Given the description of an element on the screen output the (x, y) to click on. 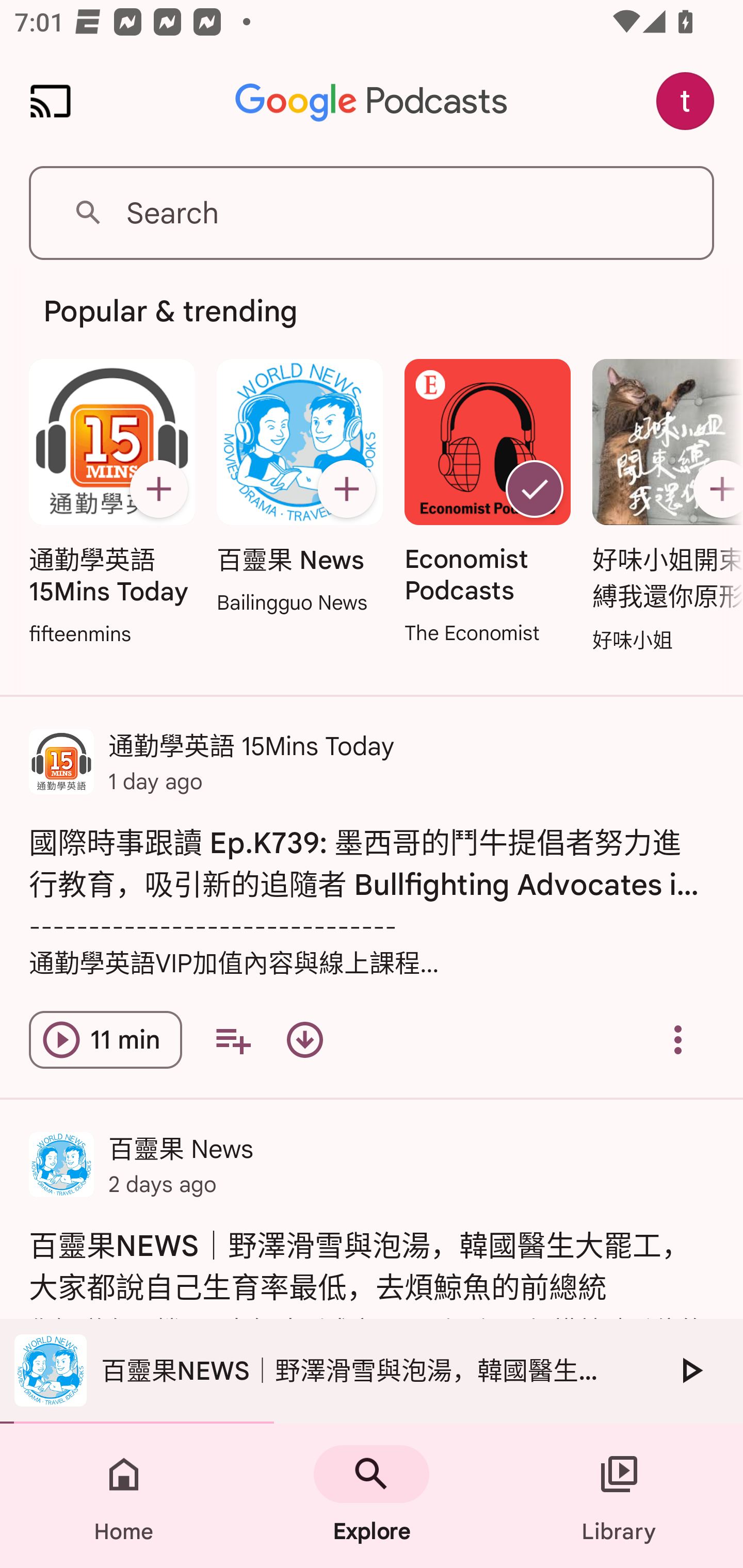
Cast. Disconnected (50, 101)
Search (371, 212)
百靈果 News Subscribe 百靈果 News Bailingguo News (299, 488)
好味小姐開束縛我還你原形 Subscribe 好味小姐開束縛我還你原形 好味小姐 (662, 507)
Subscribe (158, 489)
Subscribe (346, 489)
Unsubscribe (534, 489)
Subscribe (714, 489)
Add to your queue (232, 1040)
Download episode (304, 1040)
Overflow menu (677, 1040)
Play (690, 1370)
Home (123, 1495)
Library (619, 1495)
